Given the description of an element on the screen output the (x, y) to click on. 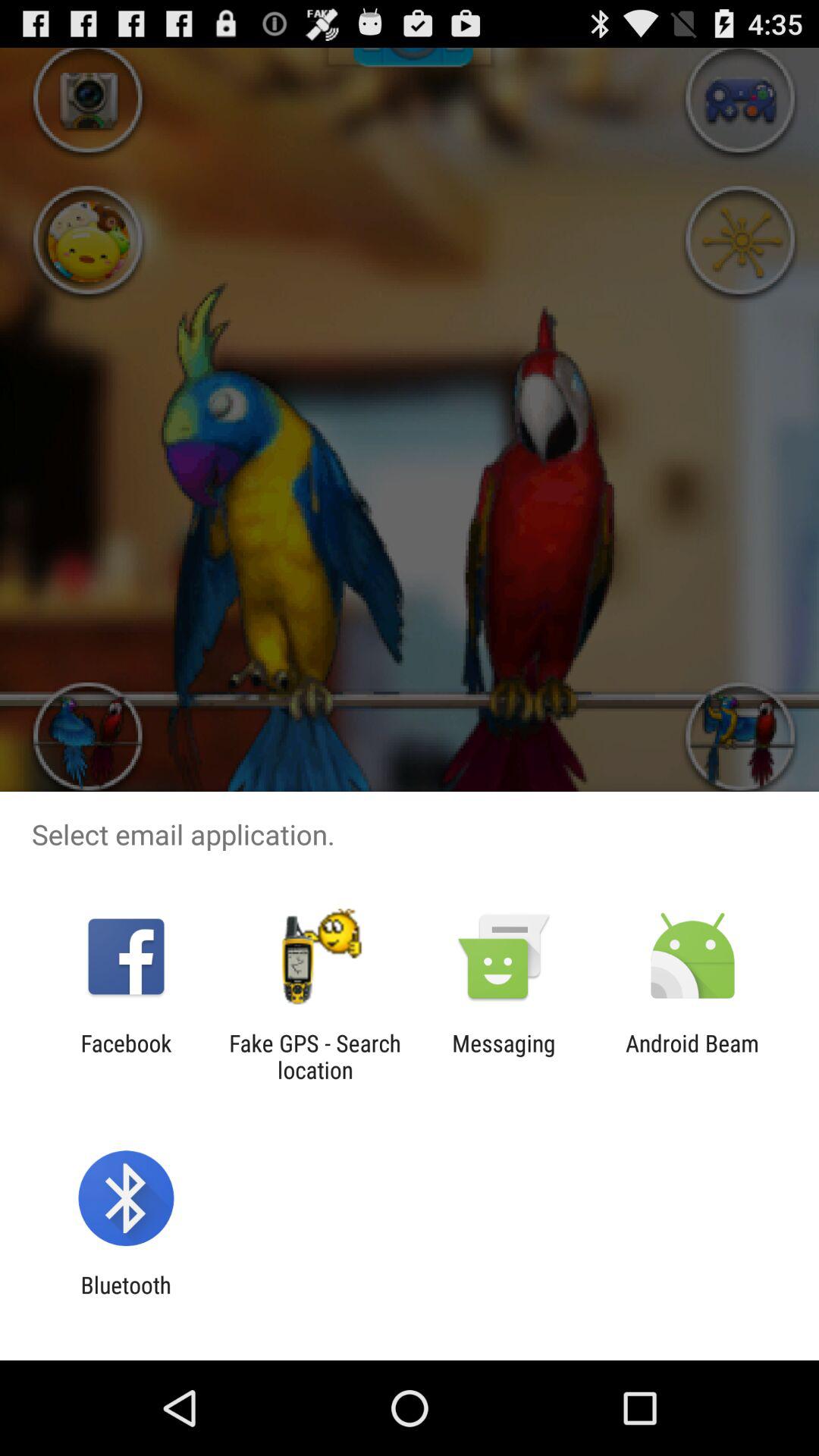
tap bluetooth icon (125, 1298)
